Given the description of an element on the screen output the (x, y) to click on. 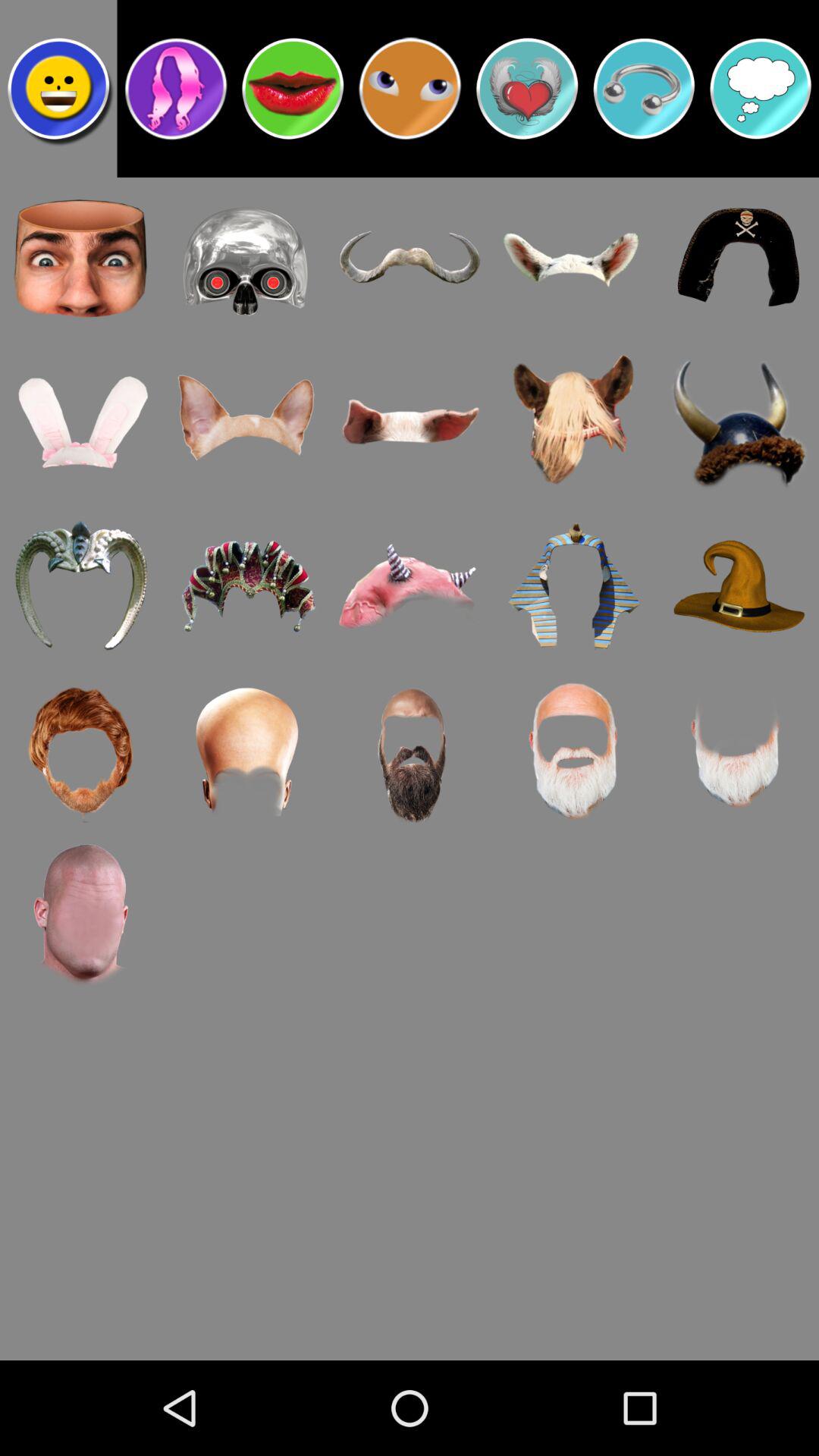
select a piercing (643, 88)
